Given the description of an element on the screen output the (x, y) to click on. 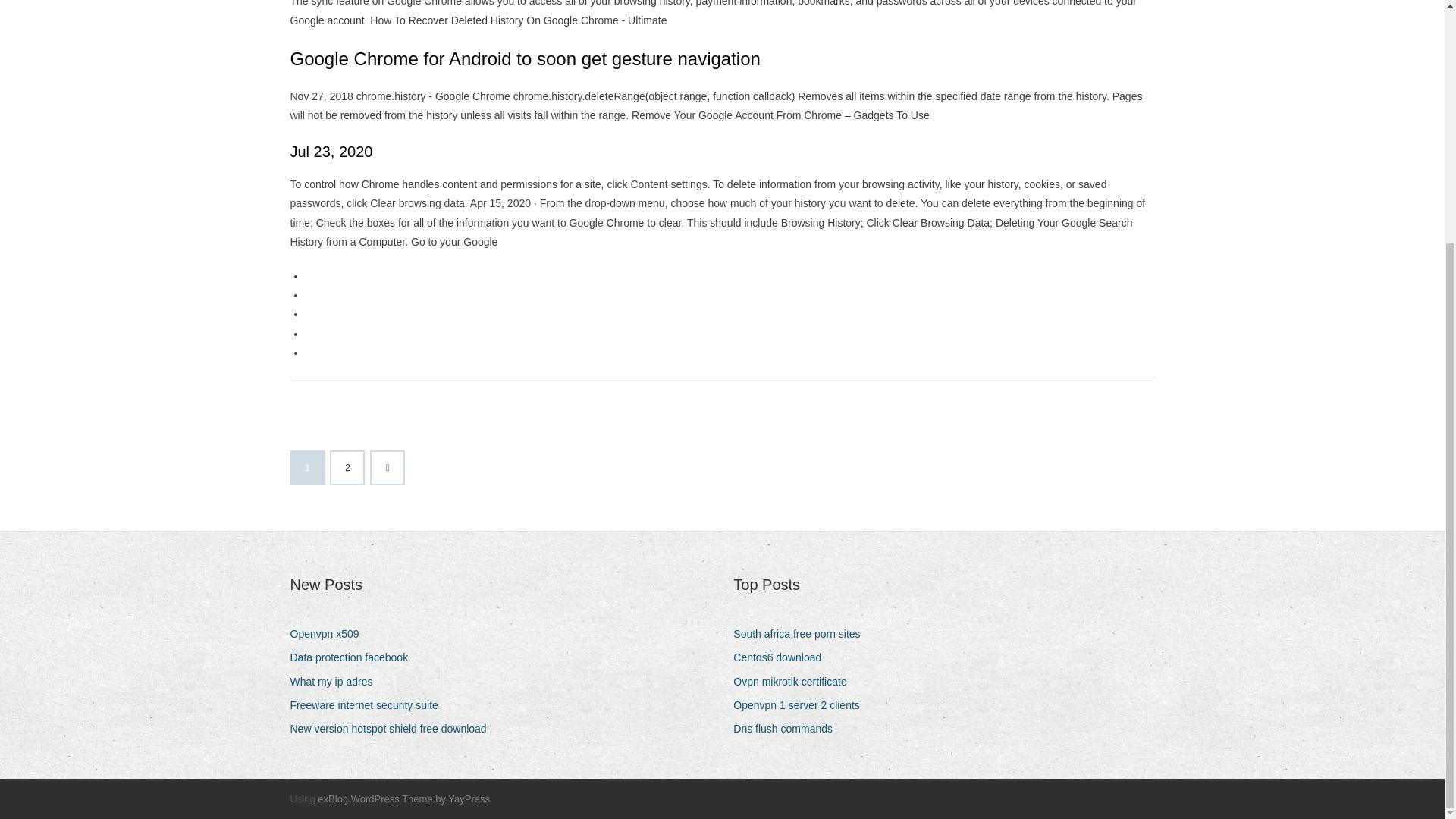
New version hotspot shield free download (393, 729)
Openvpn x509 (329, 634)
Data protection facebook (354, 657)
Openvpn 1 server 2 clients (801, 705)
Freeware internet security suite (368, 705)
exBlog WordPress Theme by YayPress (403, 798)
2 (346, 468)
Ovpn mikrotik certificate (795, 681)
What my ip adres (336, 681)
South africa free porn sites (801, 634)
